Given the description of an element on the screen output the (x, y) to click on. 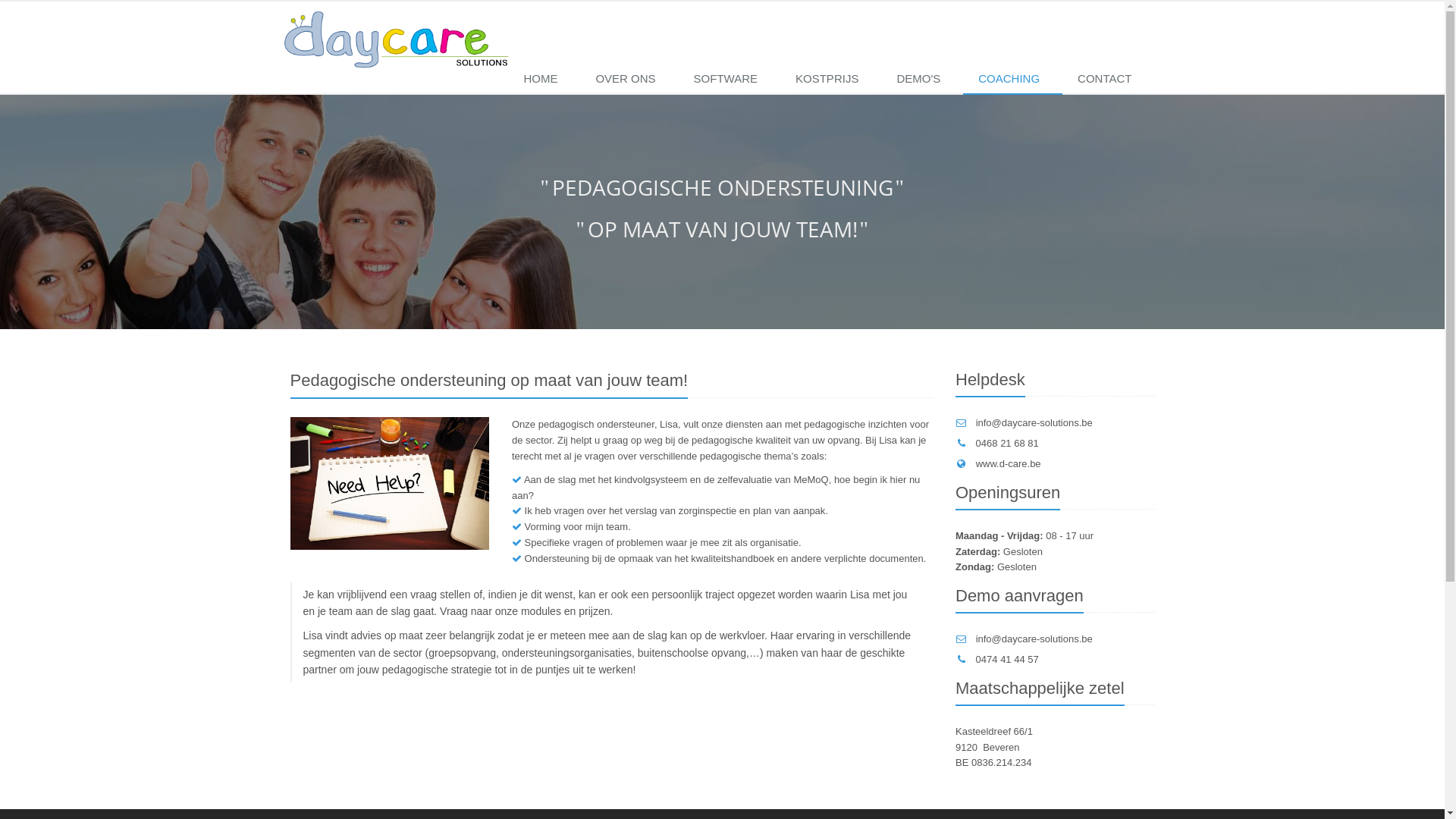
SOFTWARE Element type: text (729, 79)
info@daycare-solutions.be Element type: text (1033, 638)
HOME Element type: text (544, 79)
KOSTPRIJS Element type: text (830, 79)
DEMO'S Element type: text (922, 79)
COACHING Element type: text (1012, 79)
CONTACT Element type: text (1108, 79)
info@daycare-solutions.be Element type: text (1033, 422)
OVER ONS Element type: text (628, 79)
www.d-care.be Element type: text (1008, 463)
